Given the description of an element on the screen output the (x, y) to click on. 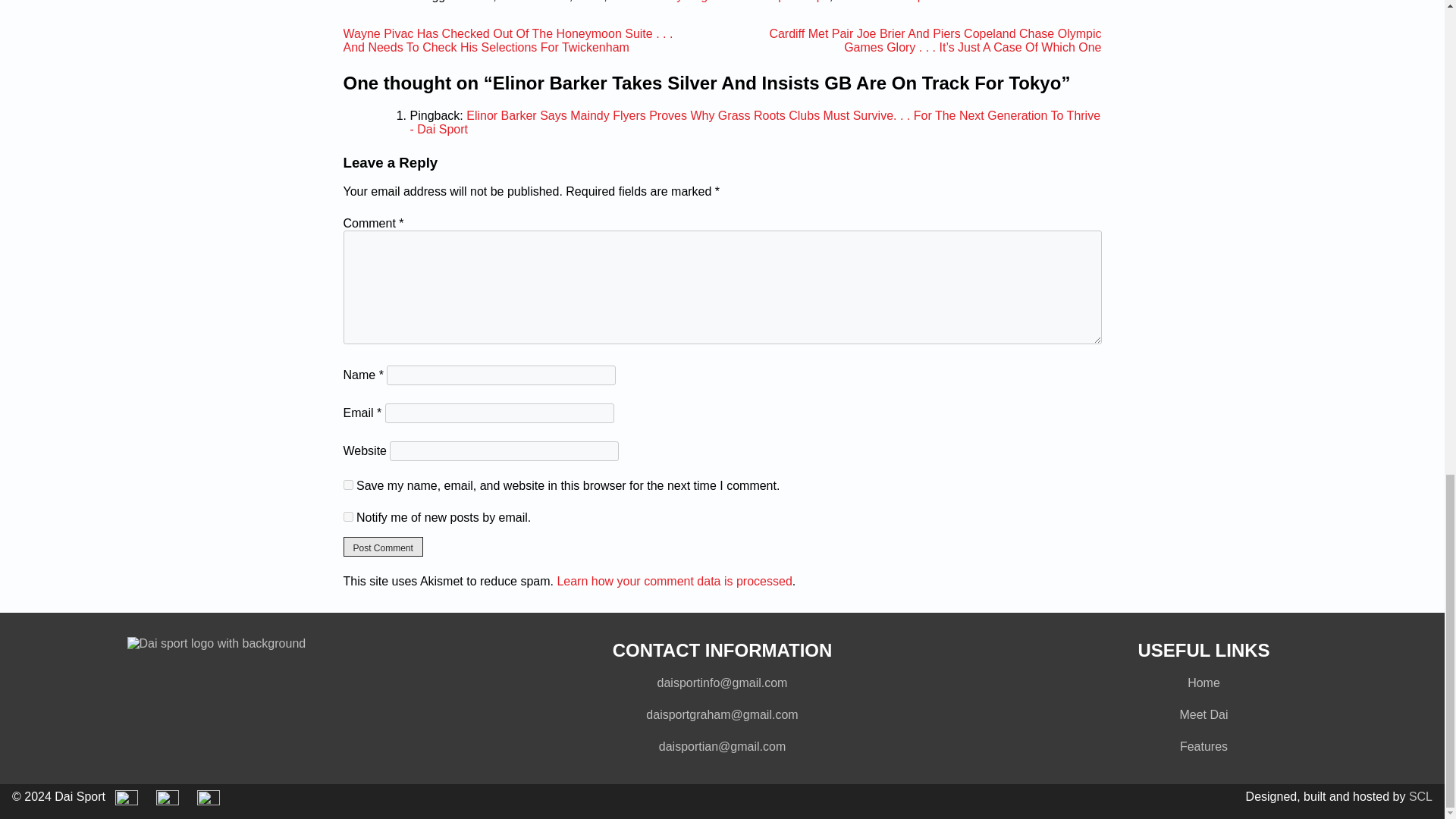
yes (347, 484)
Post Comment (382, 546)
subscribe (347, 516)
